Given the description of an element on the screen output the (x, y) to click on. 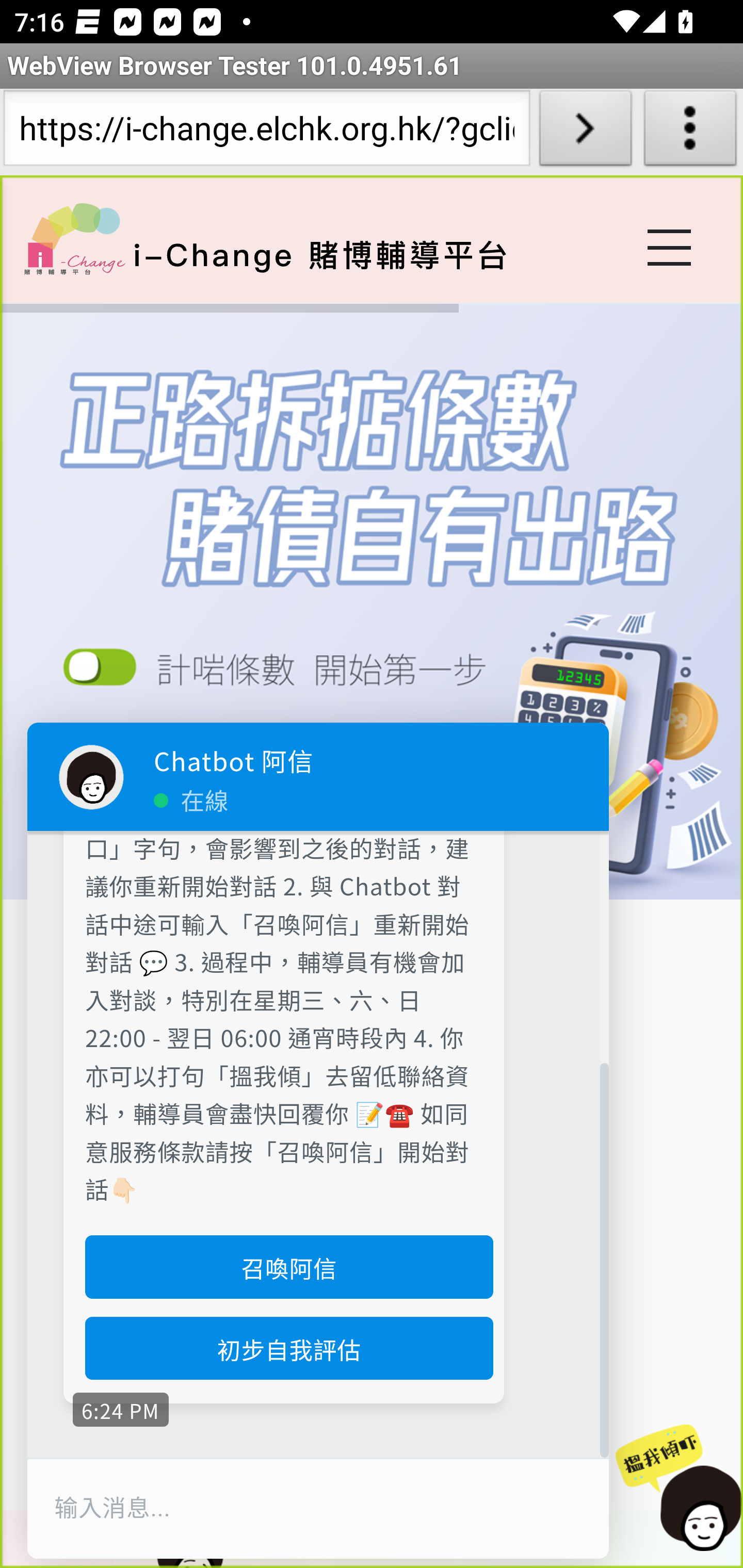
Load URL (585, 132)
About WebView (690, 132)
Home (74, 238)
Chat Now (674, 1488)
